Given the description of an element on the screen output the (x, y) to click on. 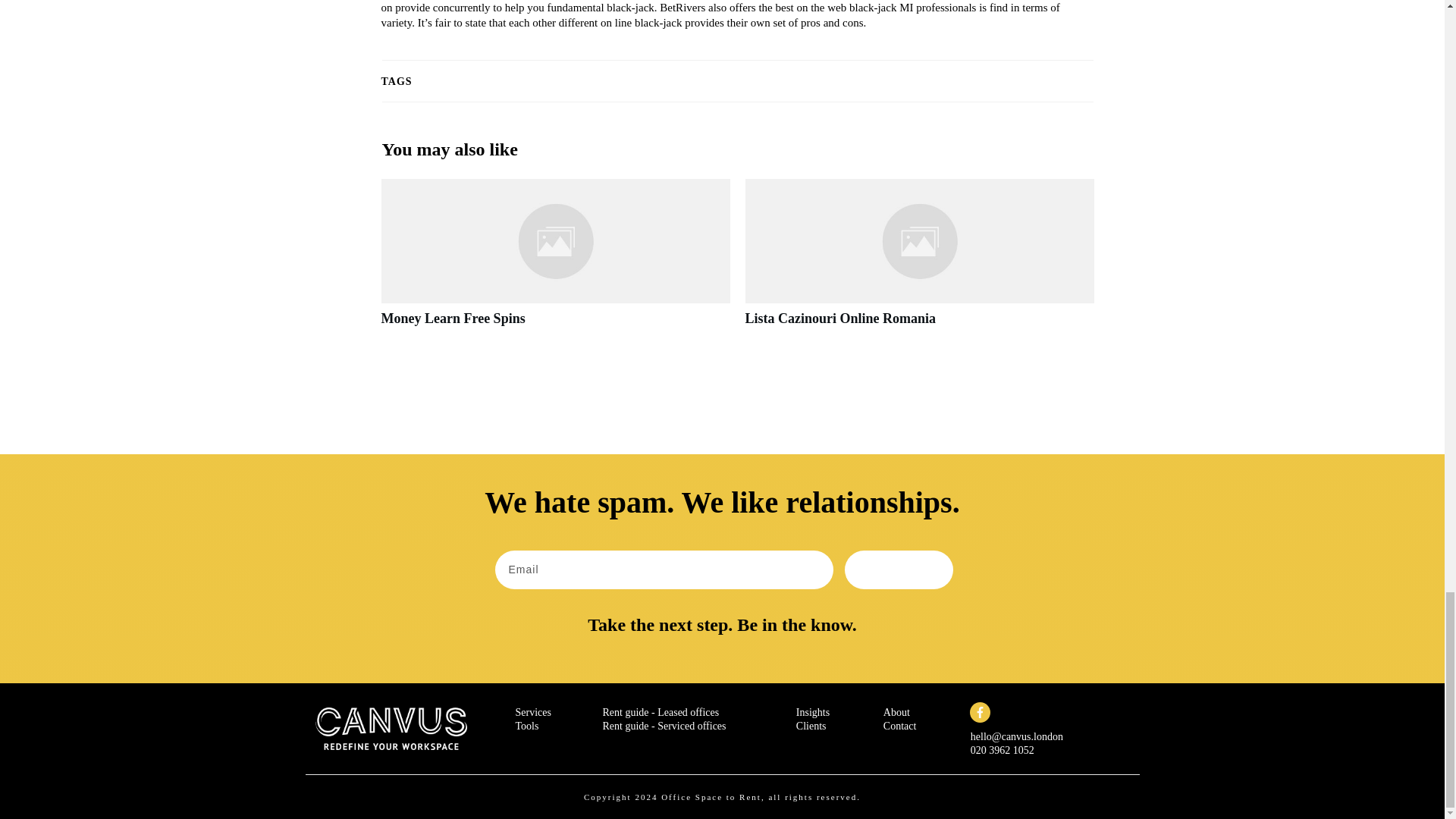
Subscribe (898, 569)
Services (533, 712)
Money Learn Free Spins (452, 318)
Rent guide - Serviced offices (663, 726)
Money Learn Free Spins (554, 261)
Money Learn Free Spins (452, 318)
Lista Cazinouri Online Romania (840, 318)
Insights (812, 712)
Lista Cazinouri Online Romania (918, 261)
Rent guide - Leased offices (660, 712)
Tools (526, 726)
Clients (811, 726)
canvus logo (391, 728)
About (896, 712)
Lista Cazinouri Online Romania (840, 318)
